Given the description of an element on the screen output the (x, y) to click on. 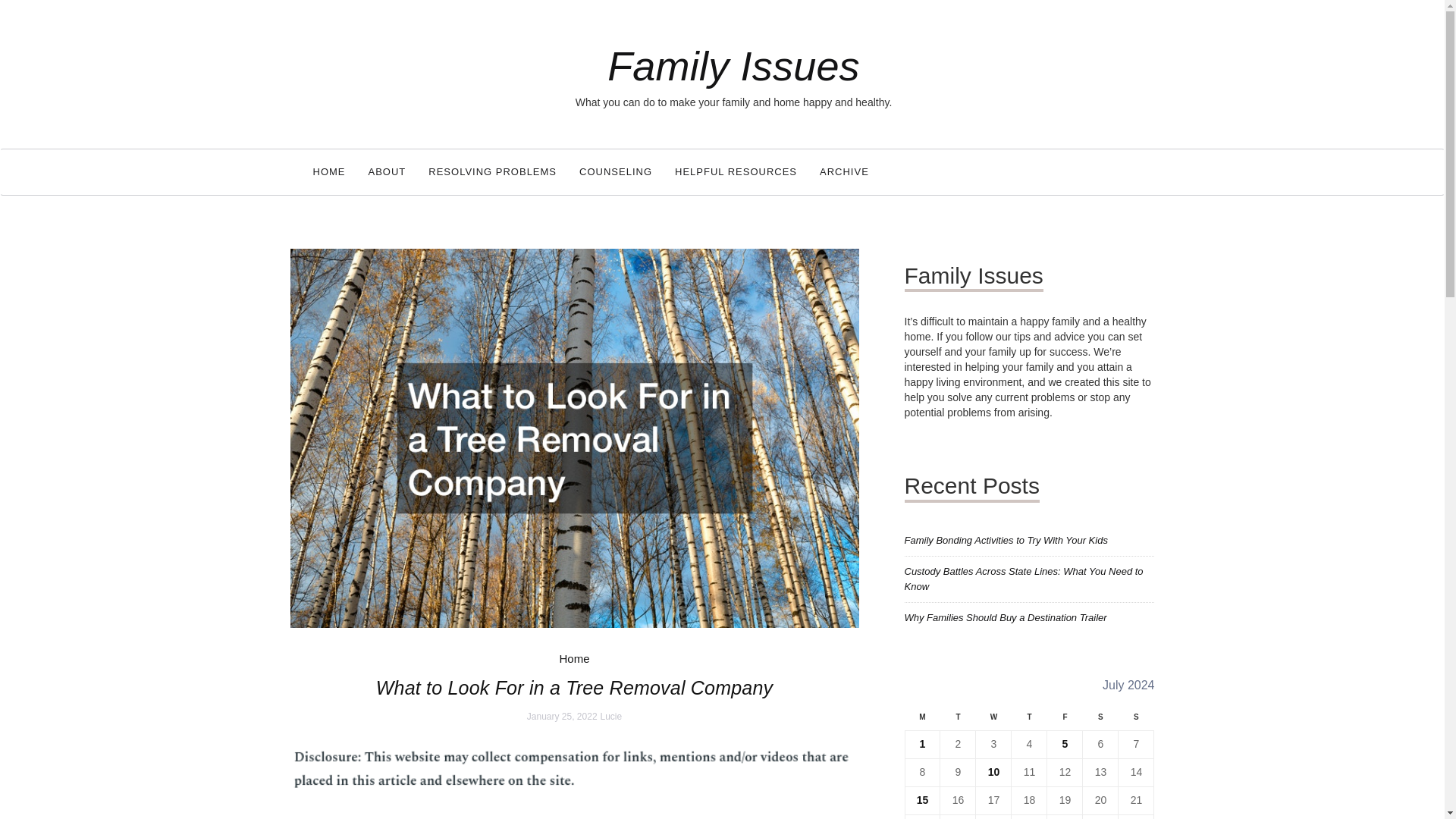
What to Look For in a Tree Removal Company (574, 437)
ABOUT (386, 171)
ARCHIVE (844, 171)
Posts by Lucie (610, 716)
About (386, 171)
HOME (328, 171)
Family Bonding Activities to Try With Your Kids (1005, 540)
Helpful Resources (735, 171)
Resolving Problems (491, 171)
Lucie (610, 716)
Tuesday (957, 721)
COUNSELING (615, 171)
Home (328, 171)
Thursday (1028, 721)
RESOLVING PROBLEMS (491, 171)
